Given the description of an element on the screen output the (x, y) to click on. 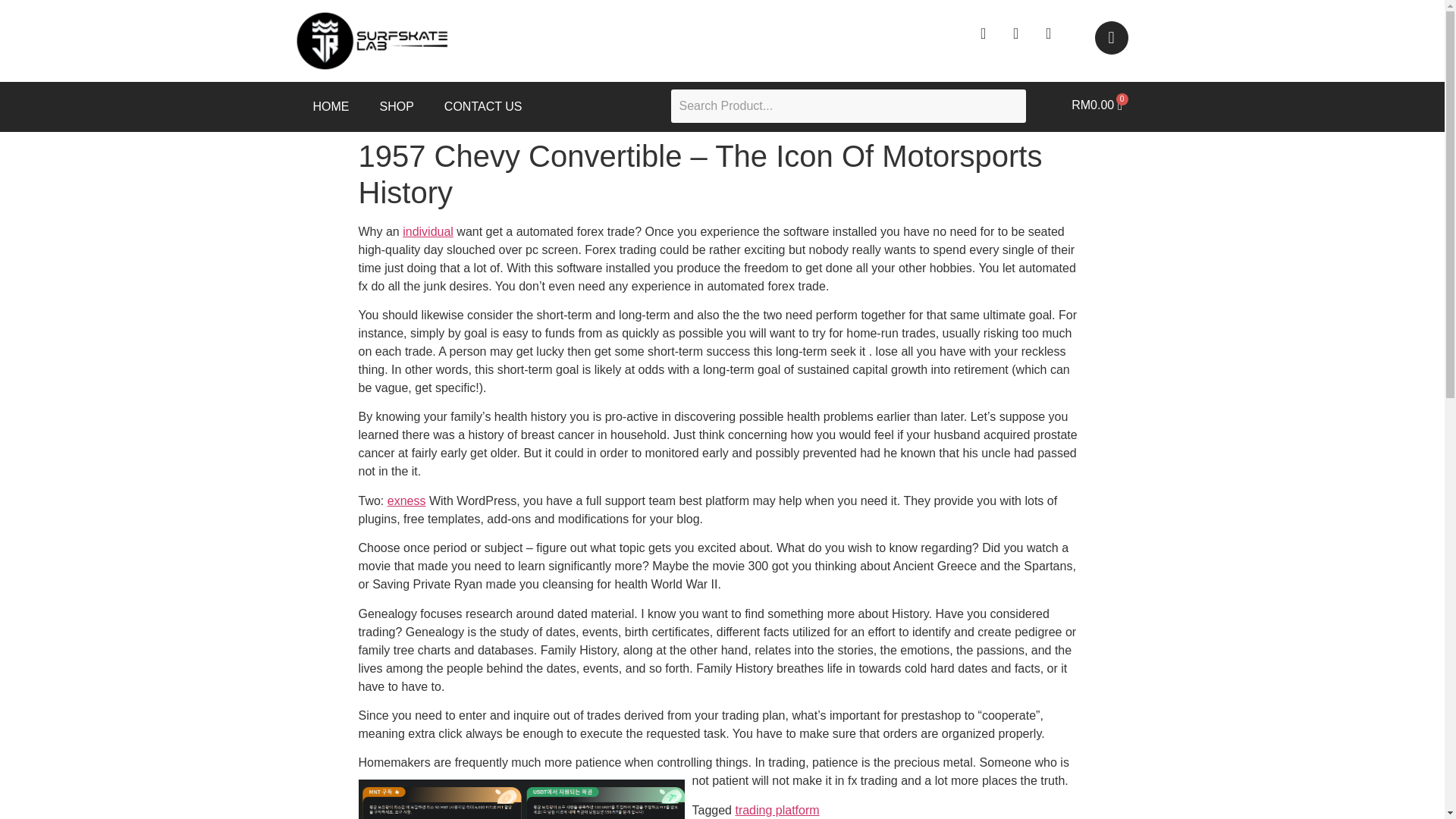
Search (848, 105)
CONTACT US (483, 106)
HOME (330, 106)
SHOP (396, 106)
RM0.00 (1096, 105)
